Given the description of an element on the screen output the (x, y) to click on. 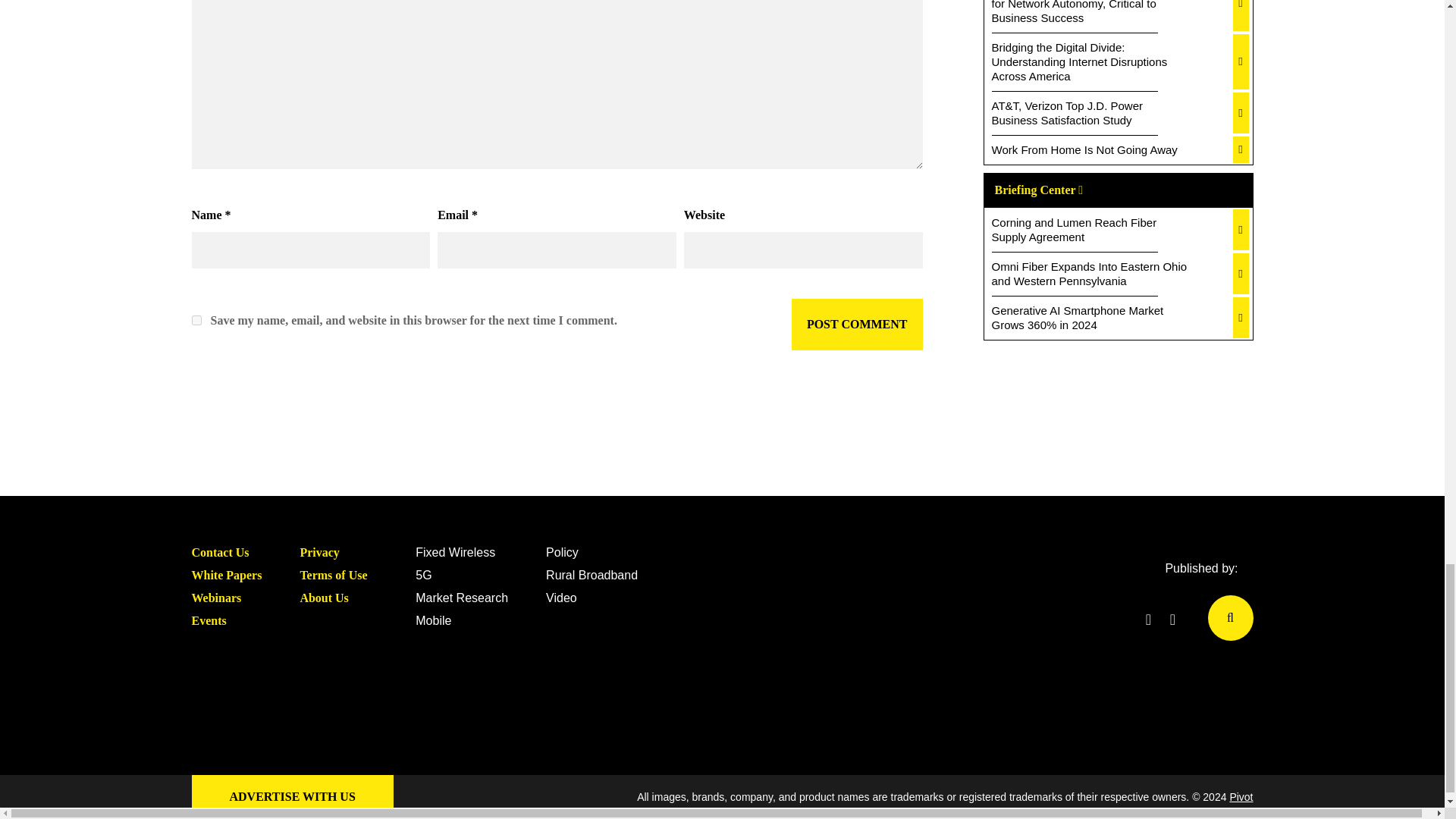
yes (195, 320)
Post Comment (857, 324)
